Given the description of an element on the screen output the (x, y) to click on. 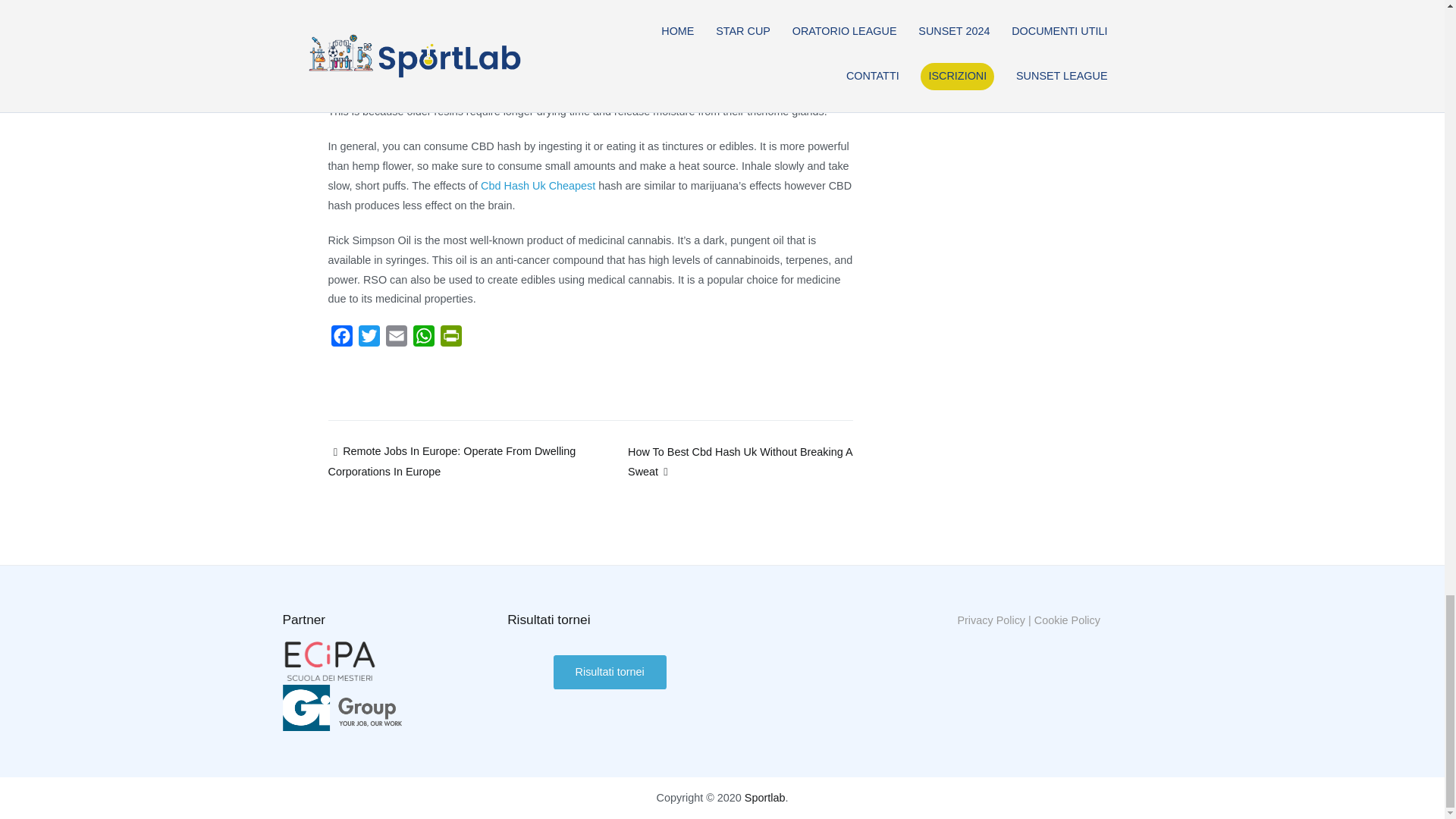
WhatsApp (422, 338)
Sportlab (765, 797)
Email (395, 338)
WhatsApp (422, 338)
PrintFriendly (450, 338)
Cbd Hash Uk Cheapest (537, 185)
buy cbd hash (476, 91)
Twitter (368, 338)
Facebook (341, 338)
Twitter (368, 338)
